Given the description of an element on the screen output the (x, y) to click on. 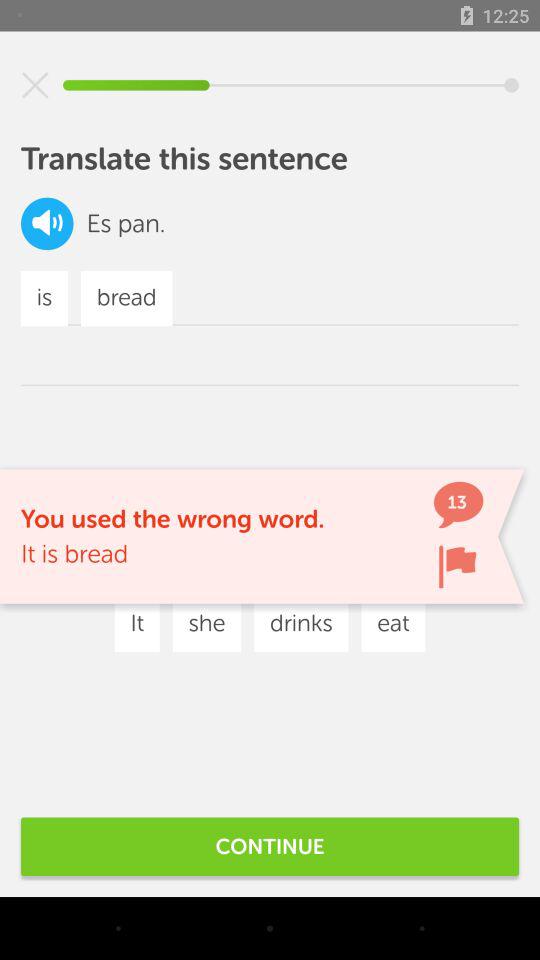
click the icon below translate this sentence (47, 223)
